Given the description of an element on the screen output the (x, y) to click on. 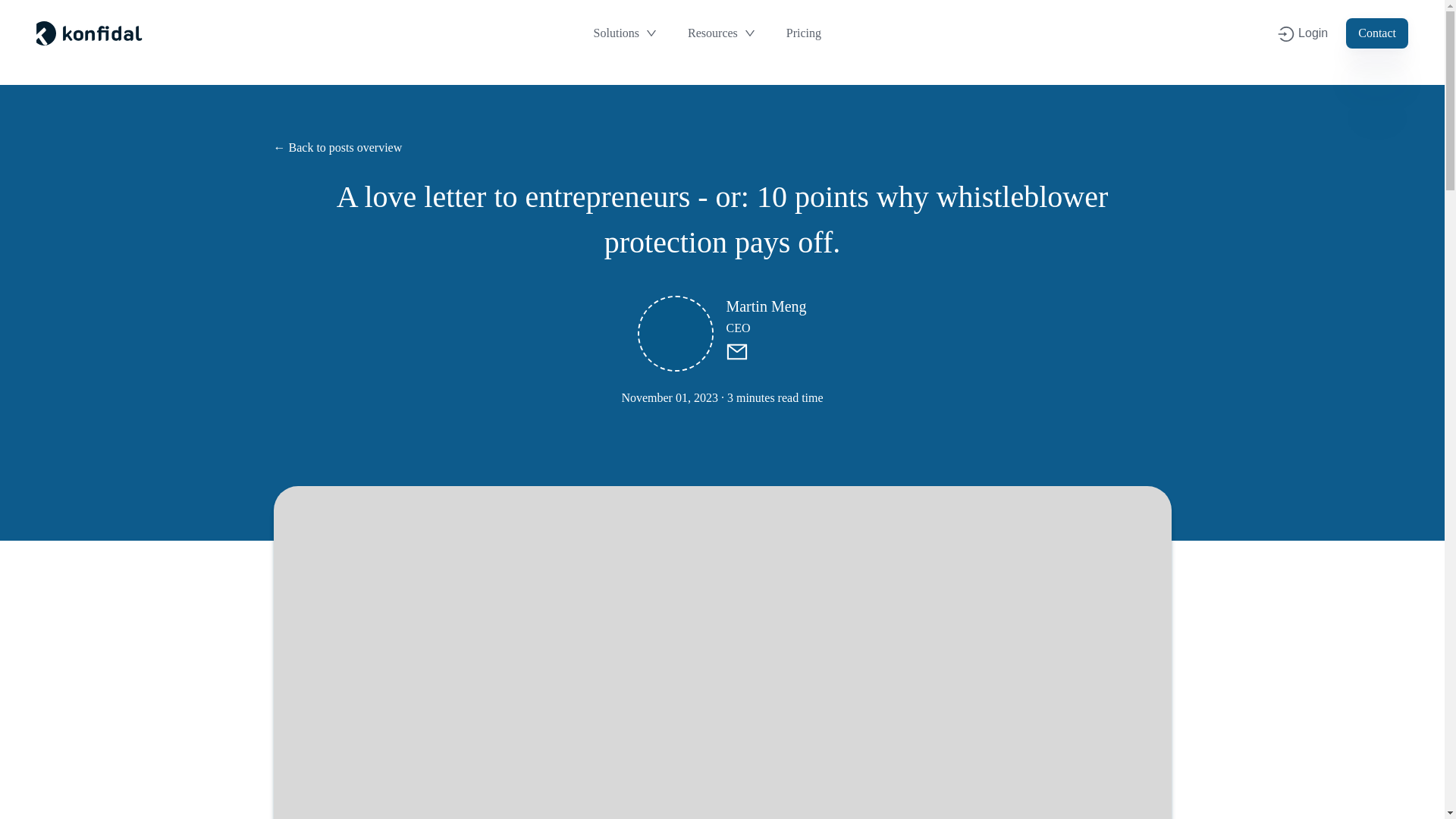
Pricing (66, 33)
Contact (1376, 33)
Login (1302, 33)
Pricing (803, 33)
